Given the description of an element on the screen output the (x, y) to click on. 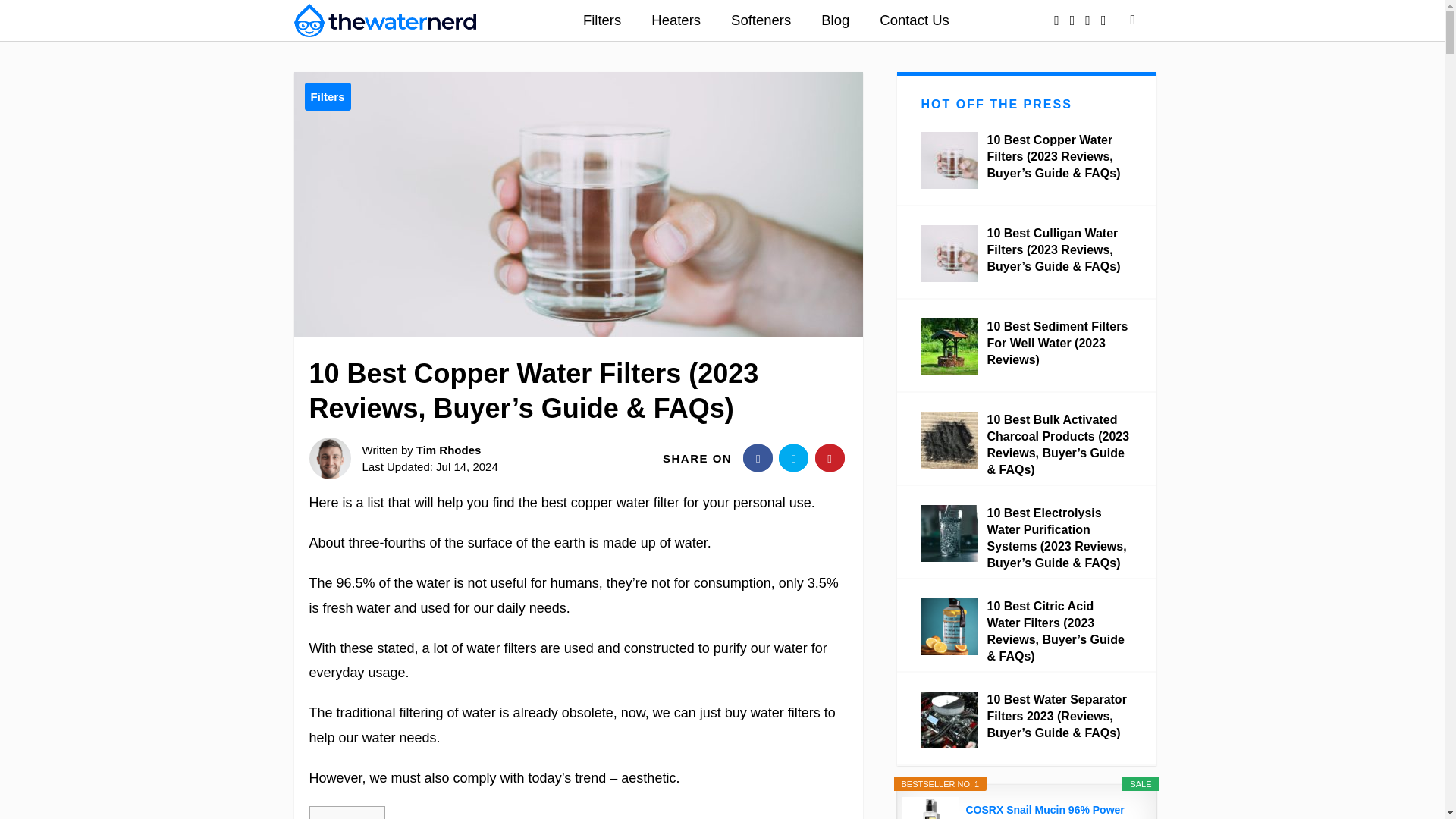
Filters (601, 22)
Heaters (676, 22)
Filters (328, 96)
Blog (835, 22)
Contact Us (913, 22)
Softeners (761, 22)
